Given the description of an element on the screen output the (x, y) to click on. 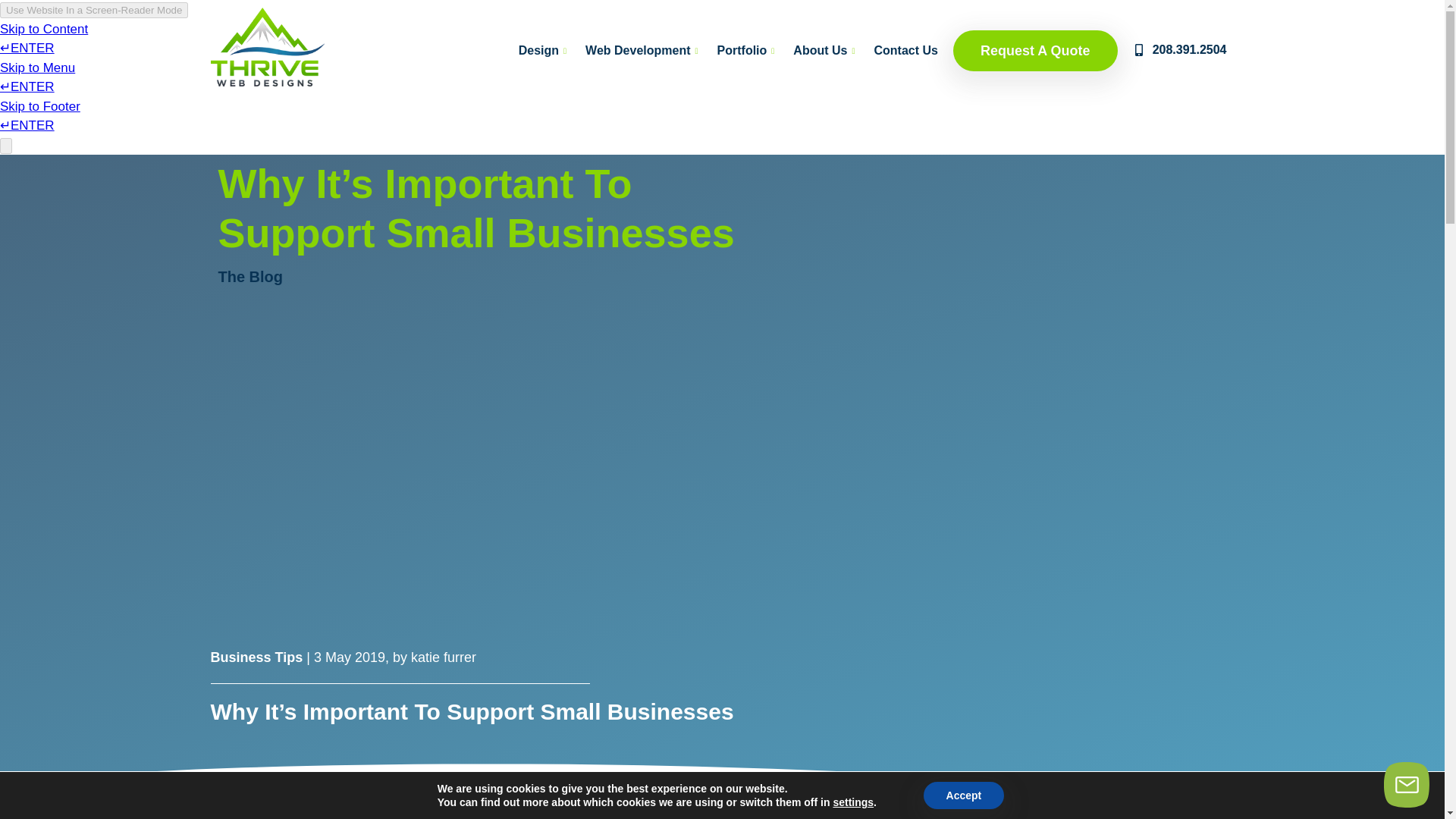
Design (544, 50)
Portfolio (748, 50)
Request A Quote (1035, 50)
208.391.2504 (1179, 51)
About Us (826, 50)
Contact Us (905, 50)
Web Development (643, 50)
